Given the description of an element on the screen output the (x, y) to click on. 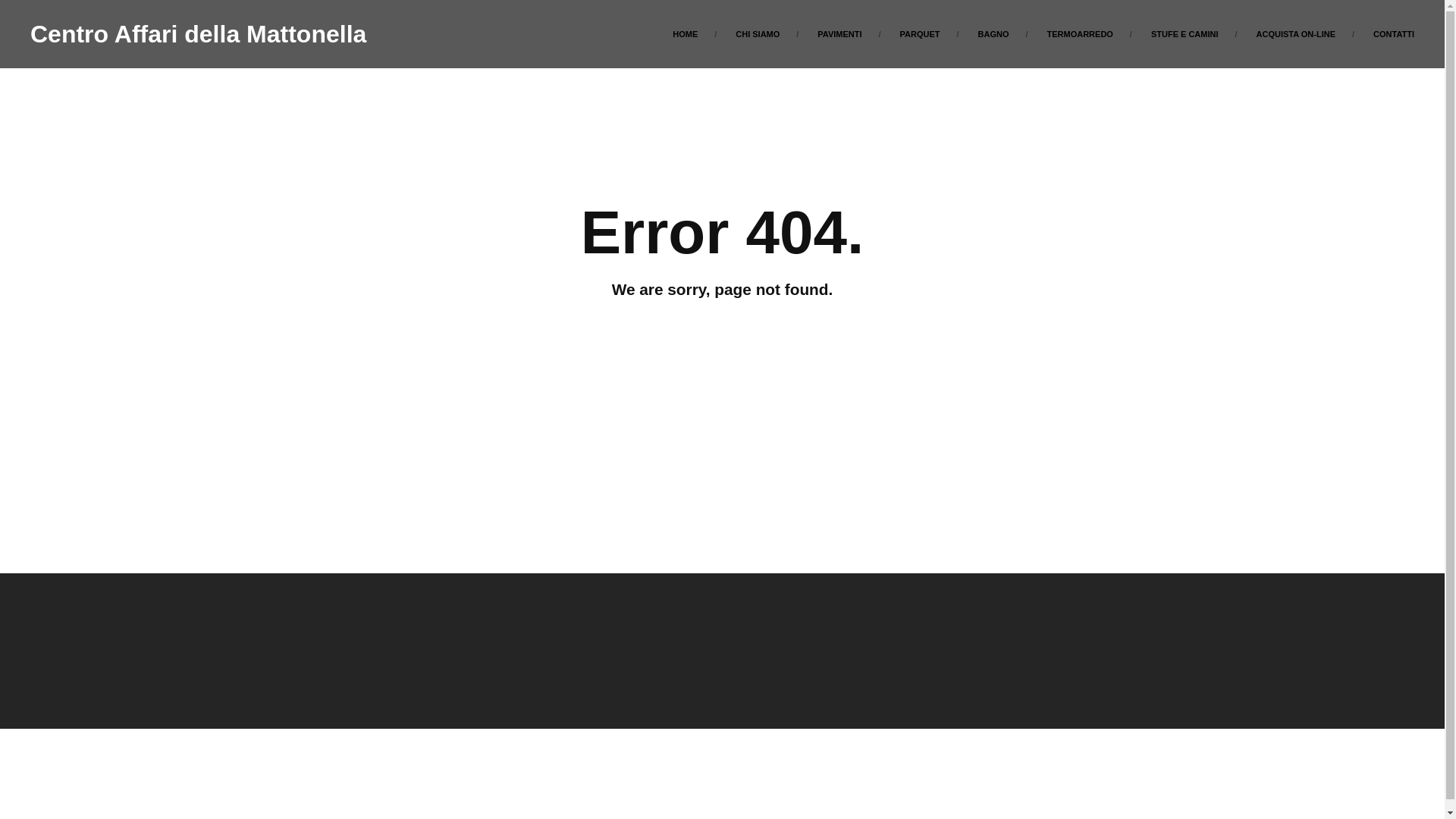
STUFE E CAMINI (1184, 33)
ACQUISTA ON-LINE (1296, 33)
BACK TO HOME (721, 346)
BACK TO HOME (721, 346)
Centro Affari della Mattonella (198, 33)
TERMOARREDO (1079, 33)
